Given the description of an element on the screen output the (x, y) to click on. 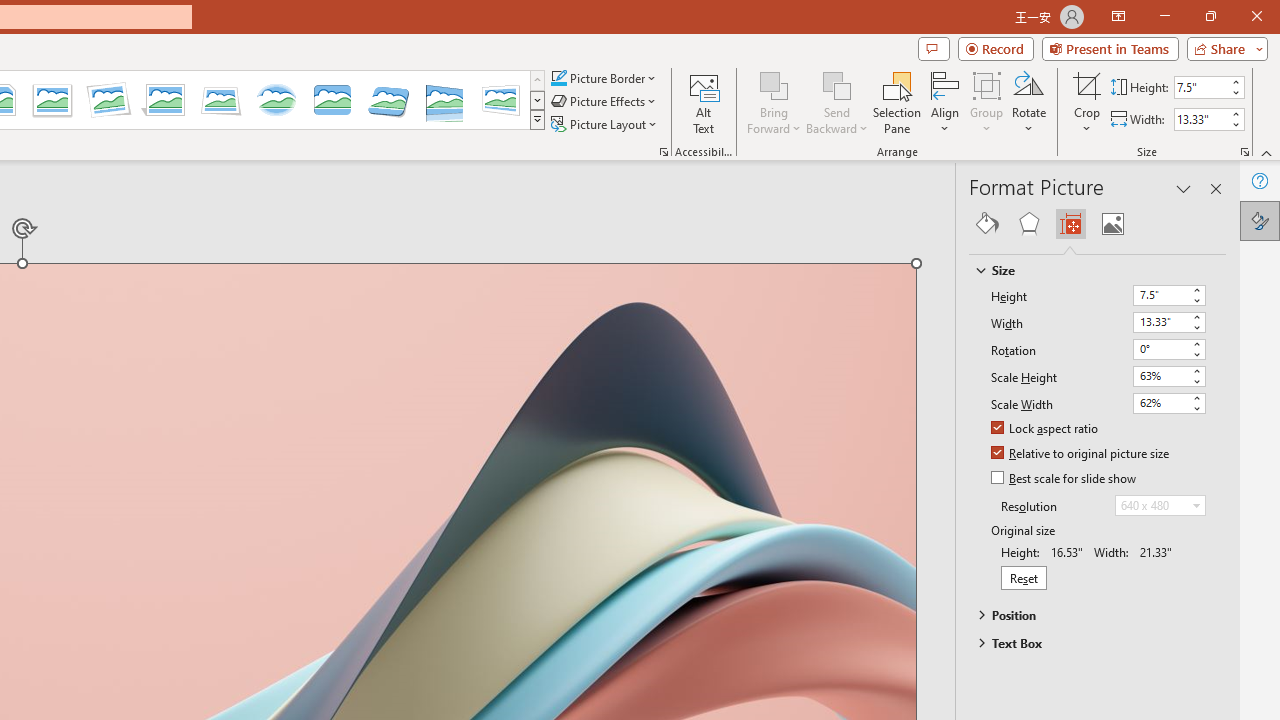
Restore Down (1210, 16)
Picture Effects (605, 101)
Picture Border Blue, Accent 1 (558, 78)
Picture (1112, 223)
Height (1168, 295)
Bring Forward (773, 102)
Close (1256, 16)
Relative to original picture size (1081, 453)
Effects (1028, 223)
Align (945, 102)
Rotate (1028, 102)
Scale Width (1168, 403)
Reflected Perspective Right (445, 100)
Picture Border (603, 78)
